Given the description of an element on the screen output the (x, y) to click on. 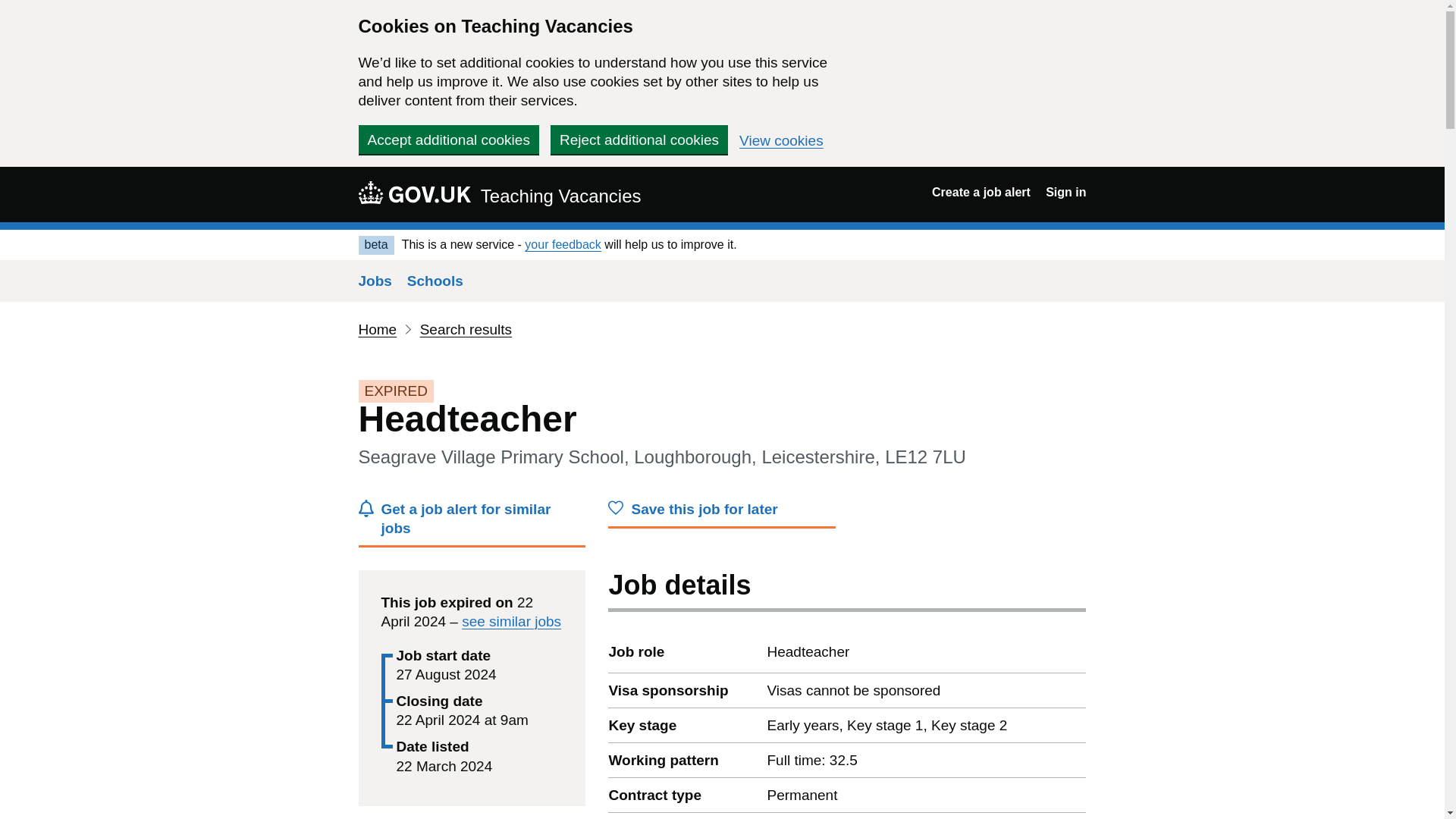
Get a job alert for similar jobs (471, 522)
View cookies (781, 140)
Home (377, 329)
Accept additional cookies (448, 139)
Search results (466, 329)
Schools (435, 281)
Create a job alert (980, 192)
Sign in (1065, 192)
GOV.UK Teaching Vacancies (499, 194)
